Given the description of an element on the screen output the (x, y) to click on. 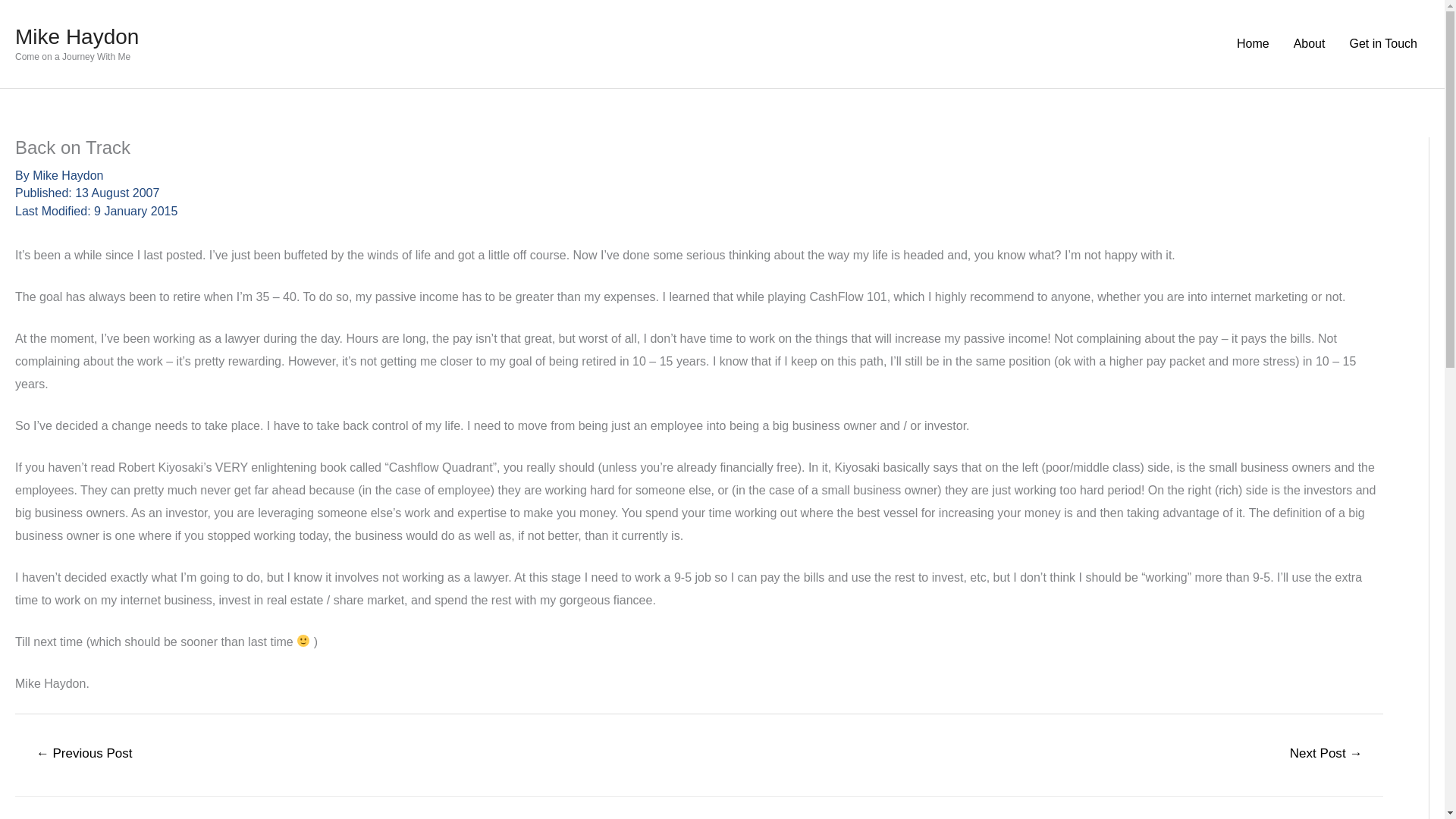
Get in Touch (1382, 43)
Home (1252, 43)
About (1309, 43)
View all posts by Mike Haydon (67, 174)
Mike Haydon (67, 174)
Mike Haydon (76, 36)
